Given the description of an element on the screen output the (x, y) to click on. 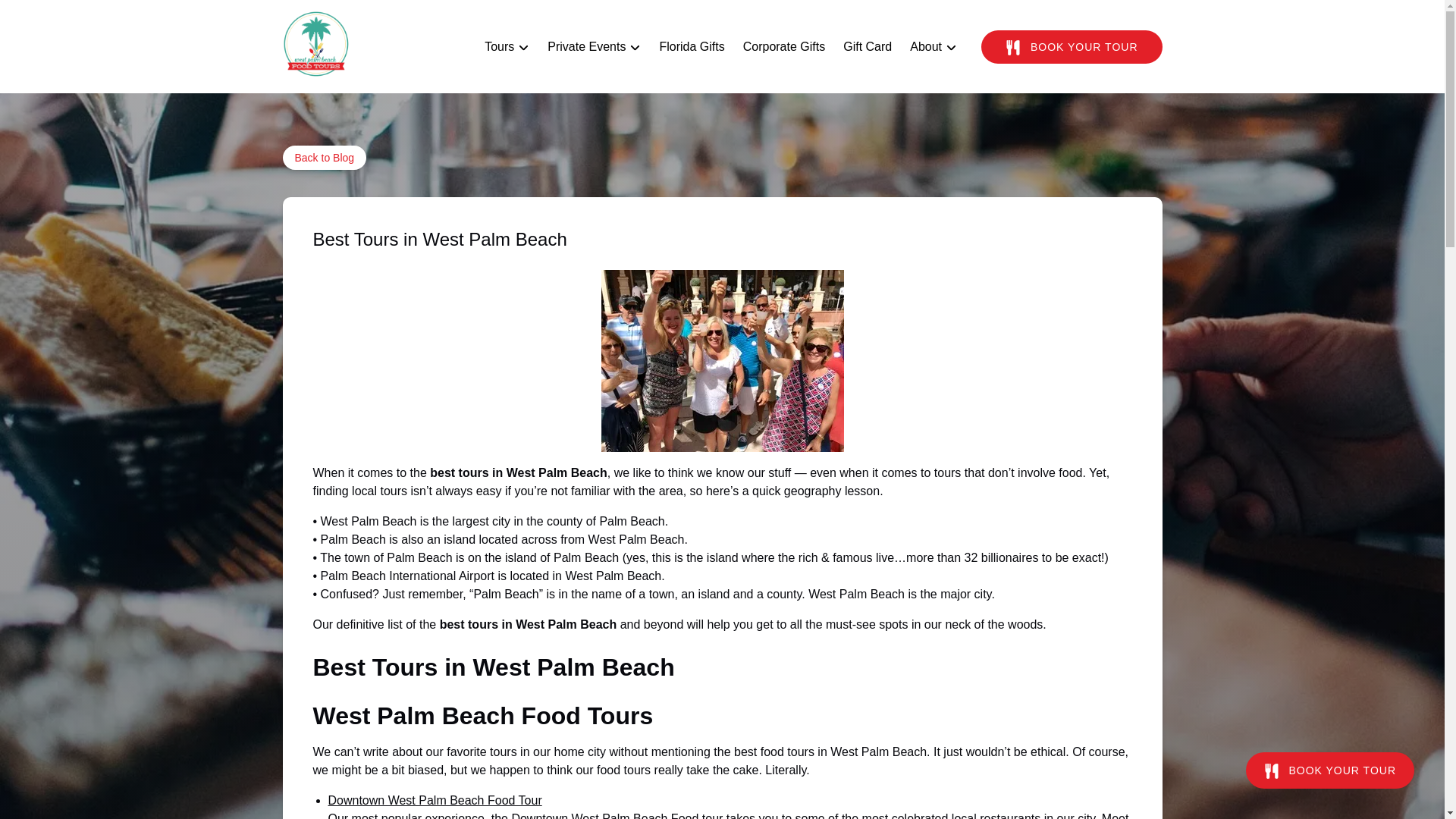
FOOD (1013, 47)
Private Events (593, 46)
Gift Card (867, 46)
Skip to content (47, 16)
FOOD (1271, 770)
Florida Gifts (691, 46)
Skip to footer (42, 16)
Back to Blog (324, 157)
Skip to primary navigation (77, 16)
FOOD BOOK YOUR TOUR (1071, 46)
Downtown West Palm Beach Food Tour (434, 799)
West Palm Beach Food Tours (482, 715)
Tours (507, 46)
Open About Menu (937, 42)
Open Tours Menu (510, 42)
